Given the description of an element on the screen output the (x, y) to click on. 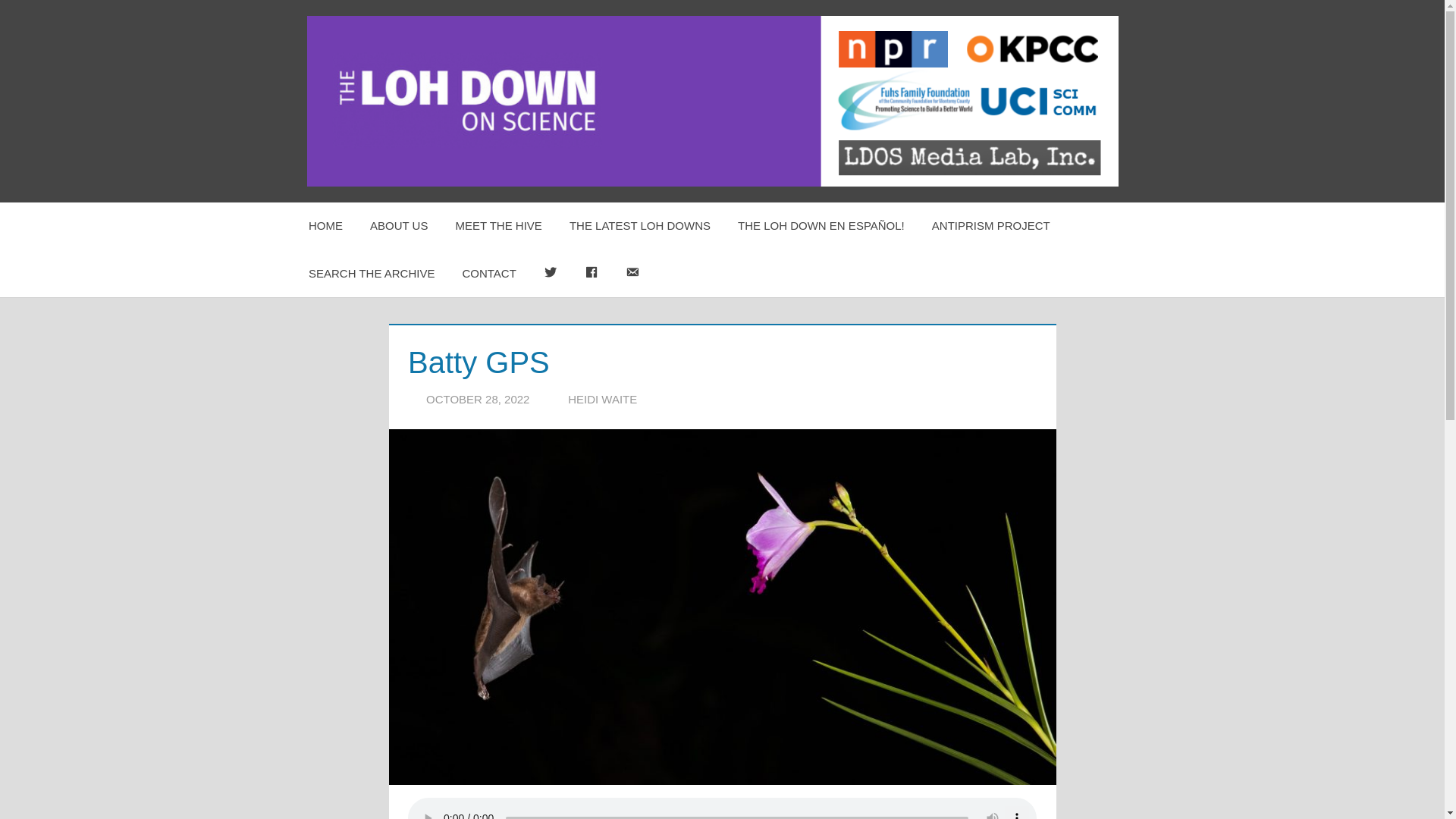
View all posts by Heidi Waite (602, 399)
HEIDI WAITE (602, 399)
MEET THE HIVE (497, 225)
ABOUT US (398, 225)
CONTACT (488, 273)
HOME (325, 225)
SEARCH THE ARCHIVE (371, 273)
THE LATEST LOH DOWNS (639, 225)
ANTIPRISM PROJECT (991, 225)
OCTOBER 28, 2022 (477, 399)
